Given the description of an element on the screen output the (x, y) to click on. 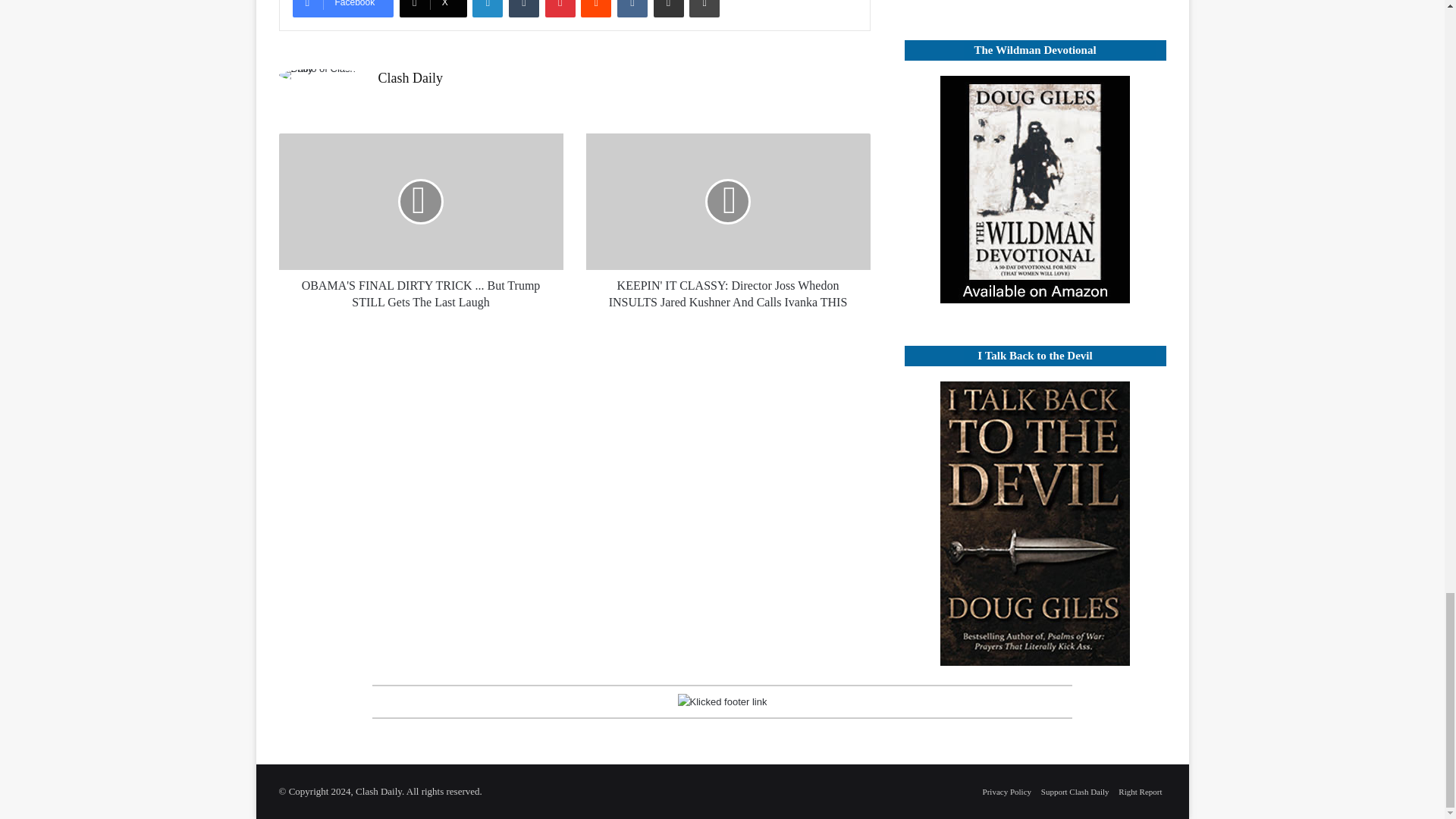
Print (703, 8)
VKontakte (632, 8)
LinkedIn (486, 8)
Facebook (343, 8)
Tumblr (523, 8)
Reddit (595, 8)
Clash Daily (409, 77)
Tumblr (523, 8)
Share via Email (668, 8)
Share via Email (668, 8)
